Given the description of an element on the screen output the (x, y) to click on. 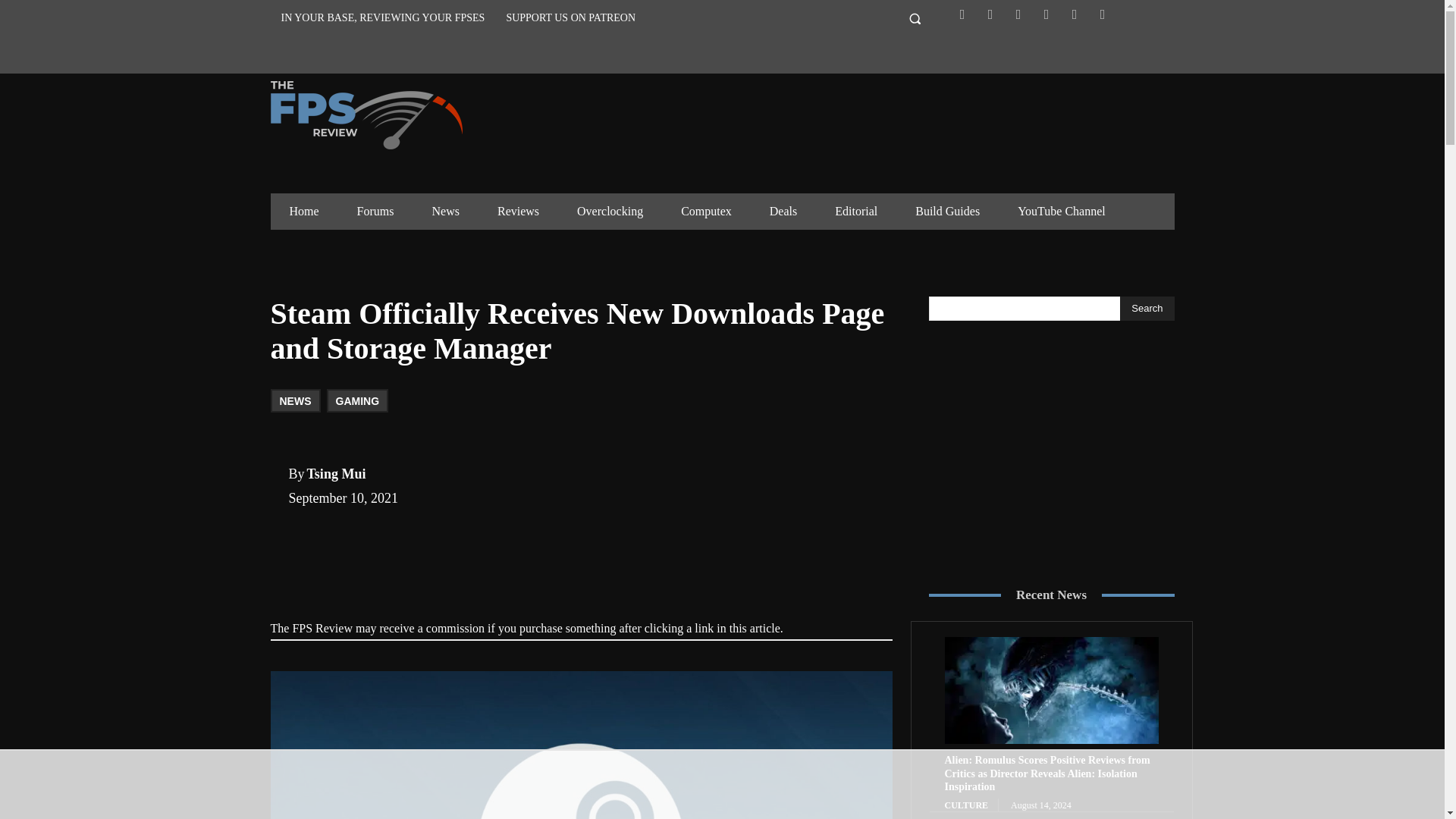
Instagram (1018, 13)
Facebook (962, 13)
Flipboard (990, 13)
